Given the description of an element on the screen output the (x, y) to click on. 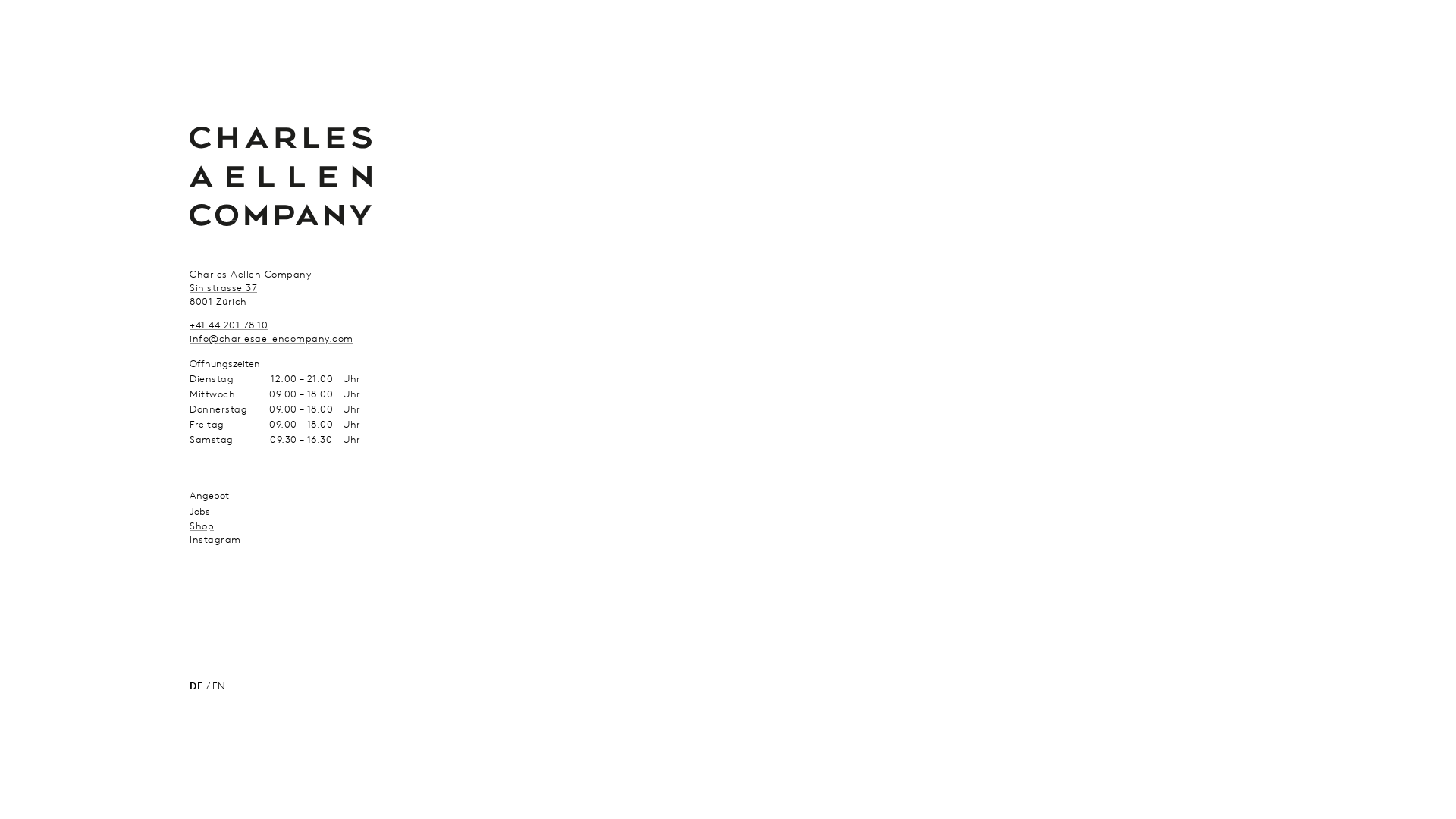
EN Element type: text (218, 685)
+41 44 201 78 10 Element type: text (228, 324)
info@charlesaellencompany.com Element type: text (271, 338)
Shop Element type: text (201, 525)
DE Element type: text (195, 685)
Instagram Element type: text (215, 539)
